Given the description of an element on the screen output the (x, y) to click on. 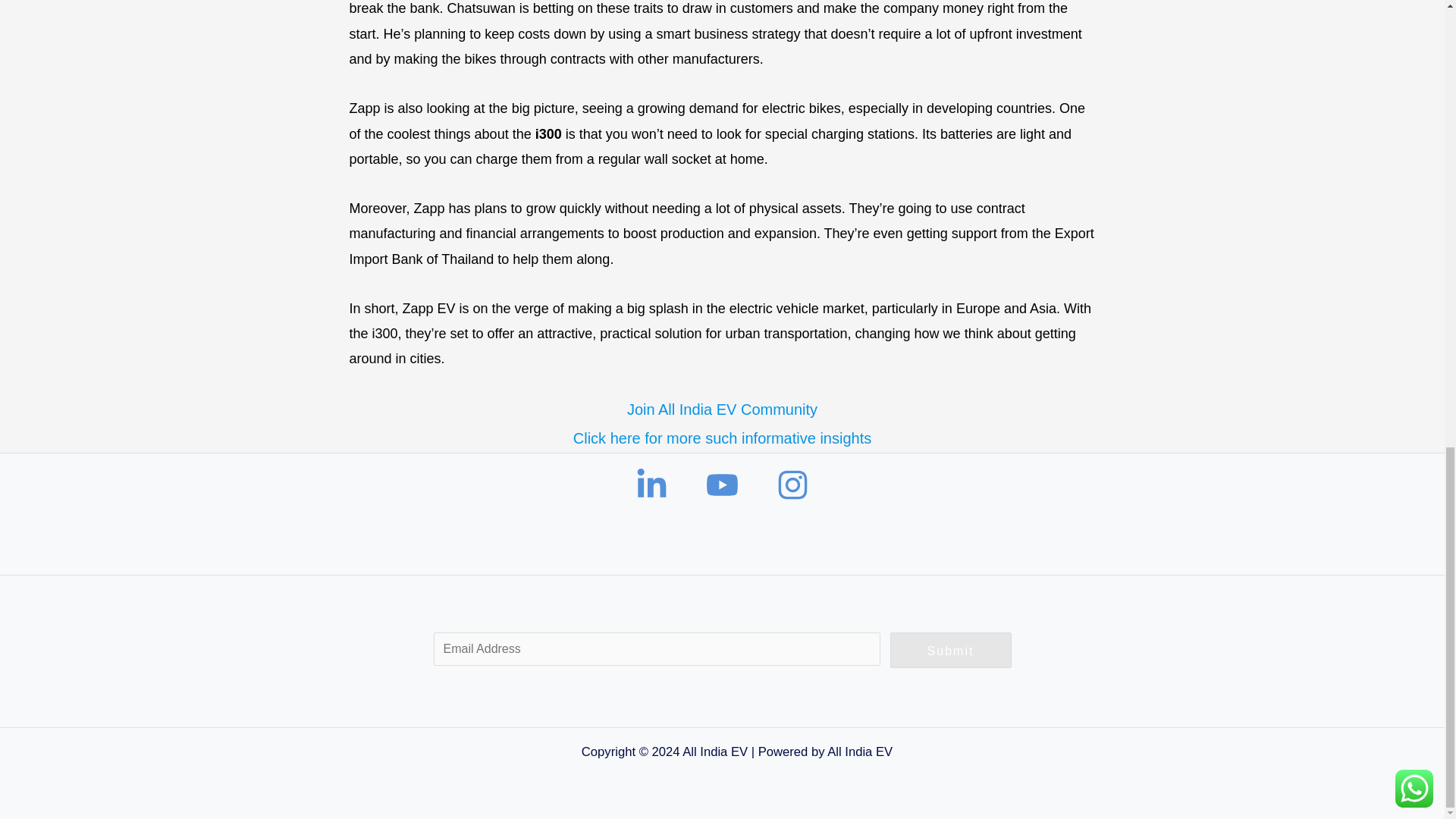
Submit (950, 650)
Join All India EV Community (721, 409)
Click here for more such informative insights (721, 437)
